Given the description of an element on the screen output the (x, y) to click on. 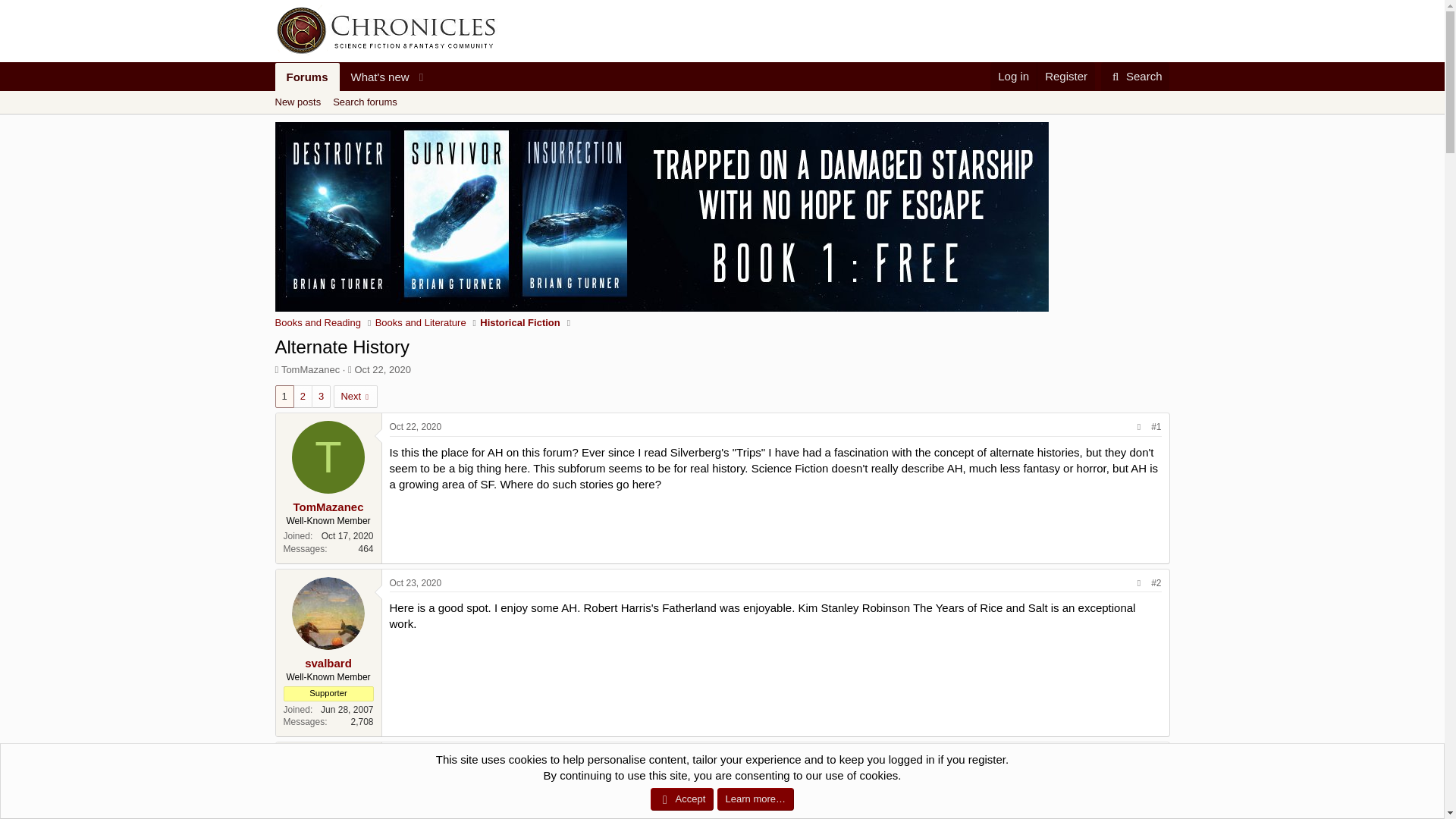
Oct 22, 2020 at 11:23 PM (416, 426)
Historical Fiction (519, 322)
Oct 23, 2020 at 6:08 PM (416, 756)
Oct 22, 2020 (381, 369)
Log in (352, 94)
What's new (1013, 76)
Forums (374, 76)
T (307, 76)
Search (328, 456)
Search forums (720, 119)
Register (1135, 76)
Oct 22, 2020 at 11:23 PM (364, 101)
Books and Literature (1065, 76)
